Given the description of an element on the screen output the (x, y) to click on. 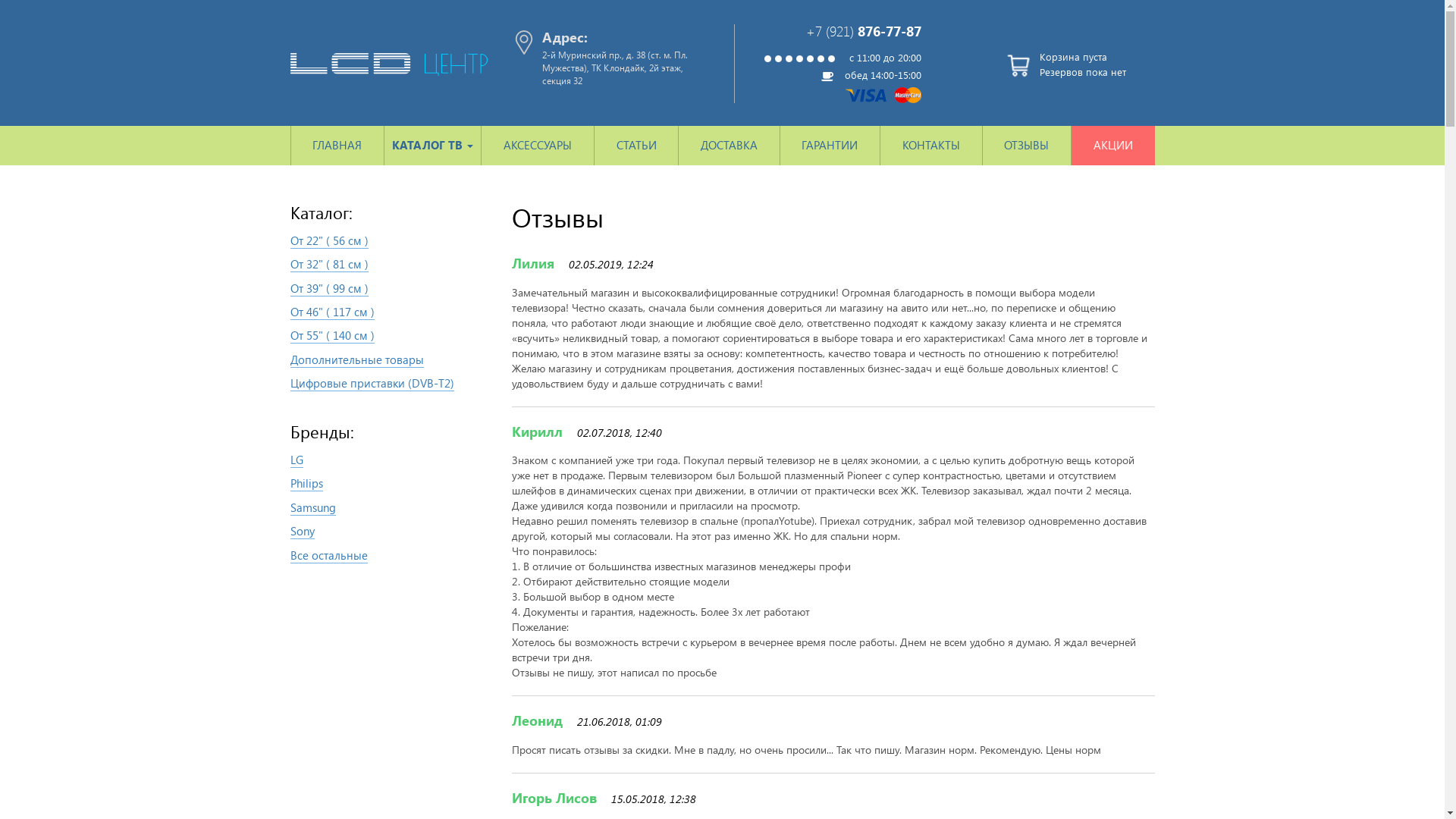
Samsung Element type: text (312, 507)
Sony Element type: text (301, 531)
Philips Element type: text (305, 483)
LG Element type: text (295, 459)
